Given the description of an element on the screen output the (x, y) to click on. 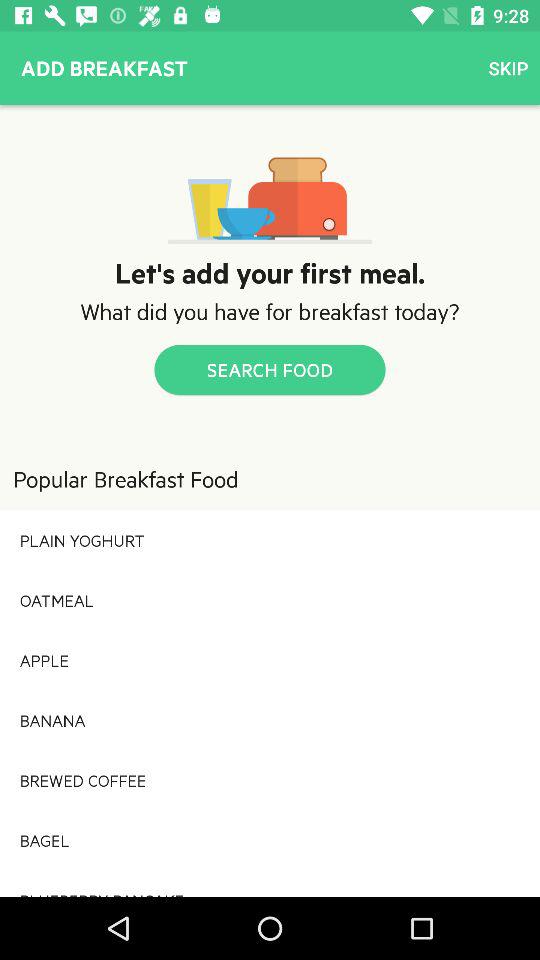
turn off icon above oatmeal (270, 540)
